Given the description of an element on the screen output the (x, y) to click on. 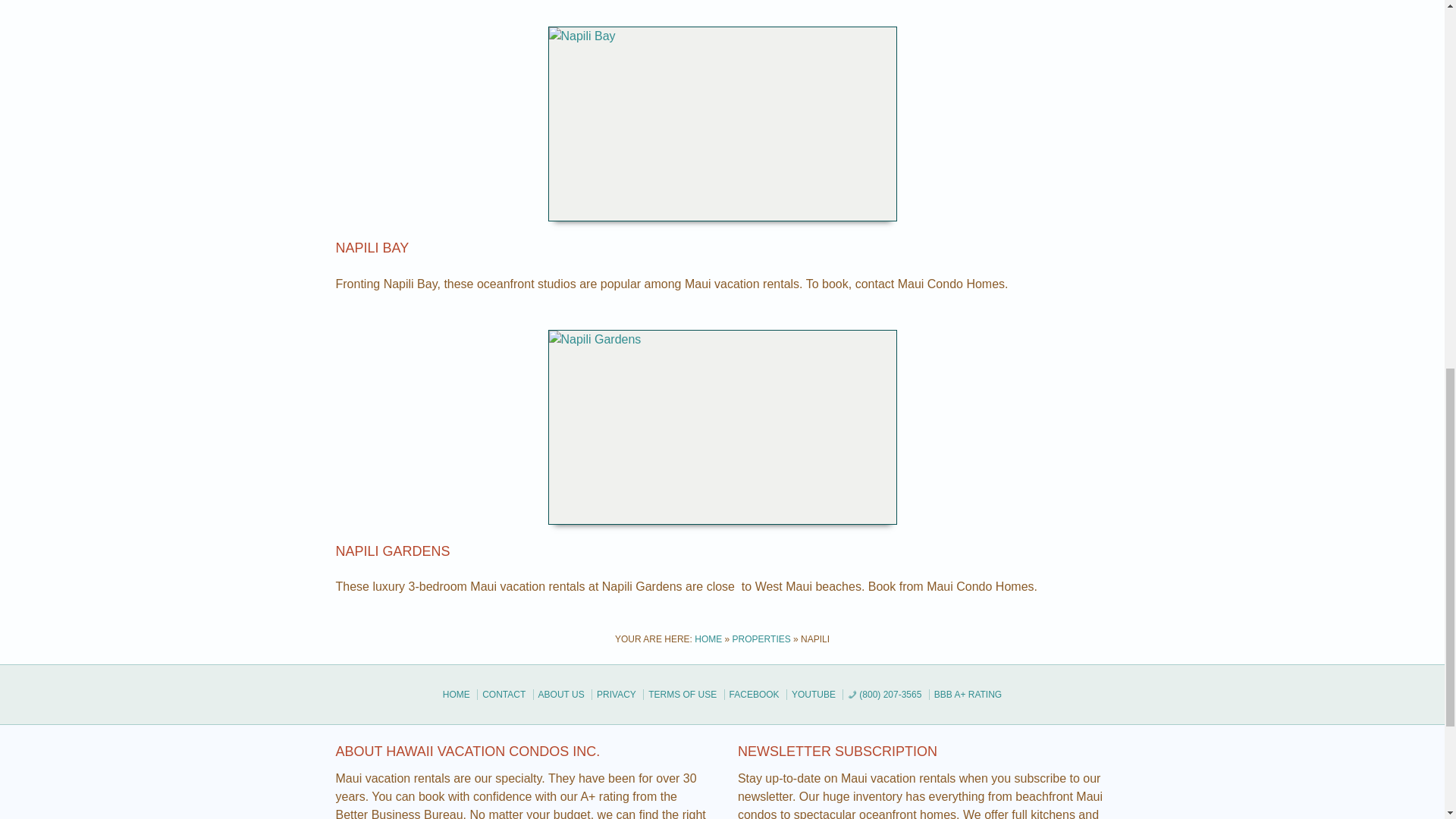
Napili Bay (371, 247)
Napili Gardens (391, 550)
